Given the description of an element on the screen output the (x, y) to click on. 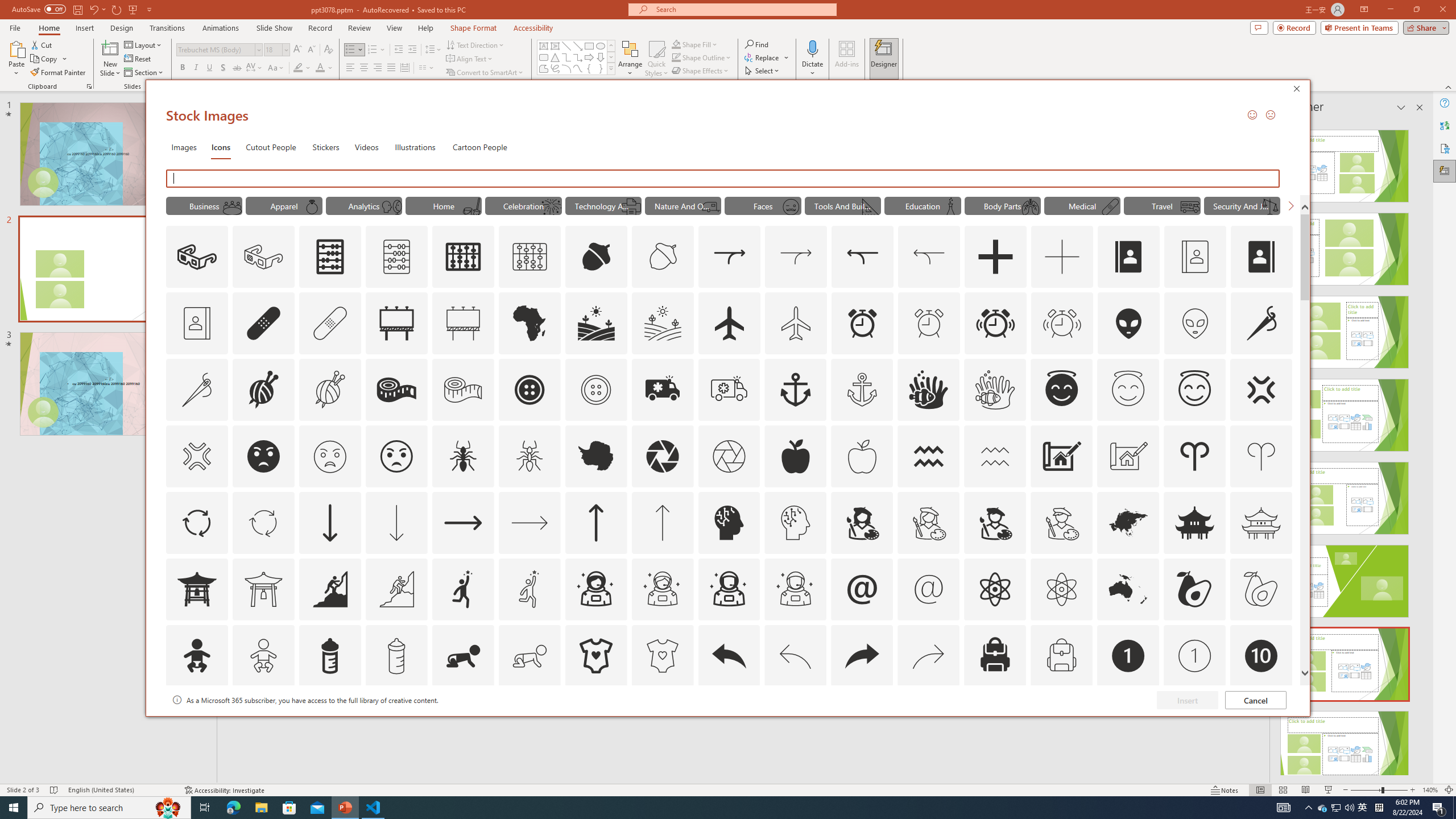
AutomationID: Icons_ArrowCircle (196, 522)
AutomationID: Icons_ArtificialIntelligence (729, 522)
AutomationID: Icons_BabyCrawling_M (529, 655)
AutomationID: Icons_Atom (995, 588)
AutomationID: Icons_Aperture_M (729, 455)
AutomationID: Icons_Badge10 (1260, 655)
AutomationID: Icons_Advertising (397, 323)
Align Right (377, 67)
"Faces" Icons. (762, 205)
